Given the description of an element on the screen output the (x, y) to click on. 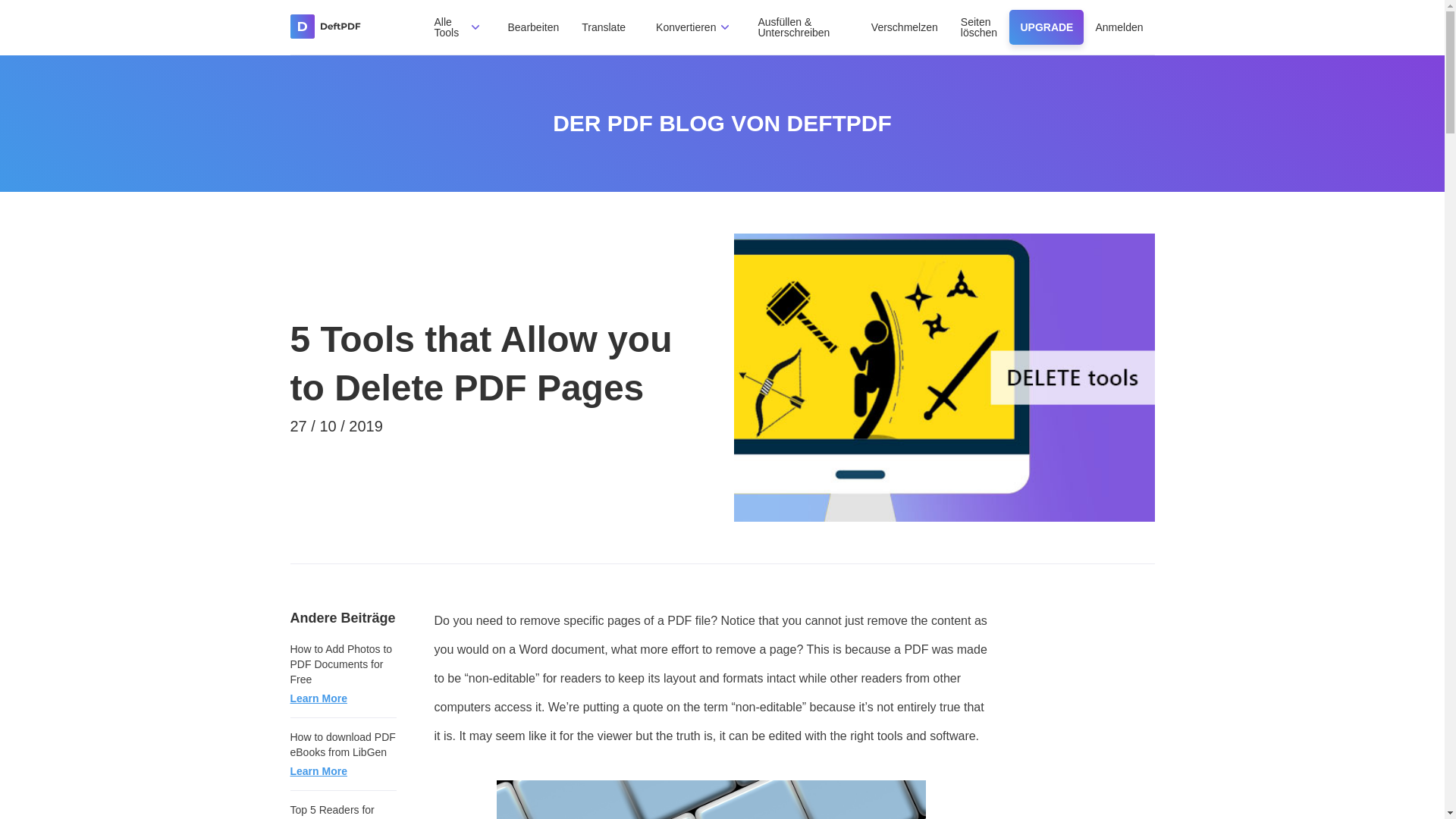
Anmelden (1118, 27)
Verschmelzen (903, 27)
Bearbeiten (533, 27)
Translate (603, 27)
Konvertieren (686, 27)
UPGRADE (1046, 27)
Alle Tools (445, 26)
